Given the description of an element on the screen output the (x, y) to click on. 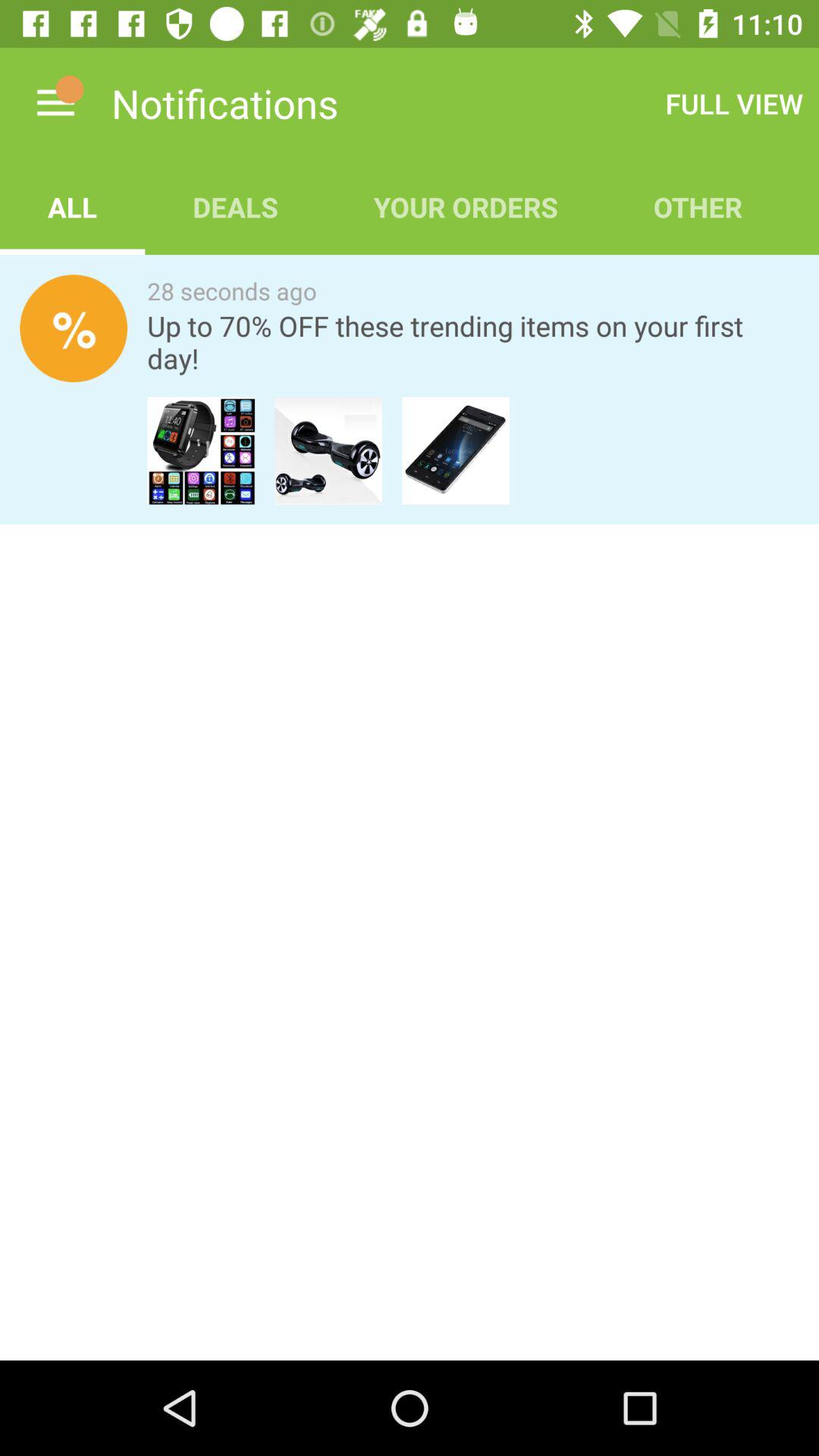
click deals icon (235, 206)
